Given the description of an element on the screen output the (x, y) to click on. 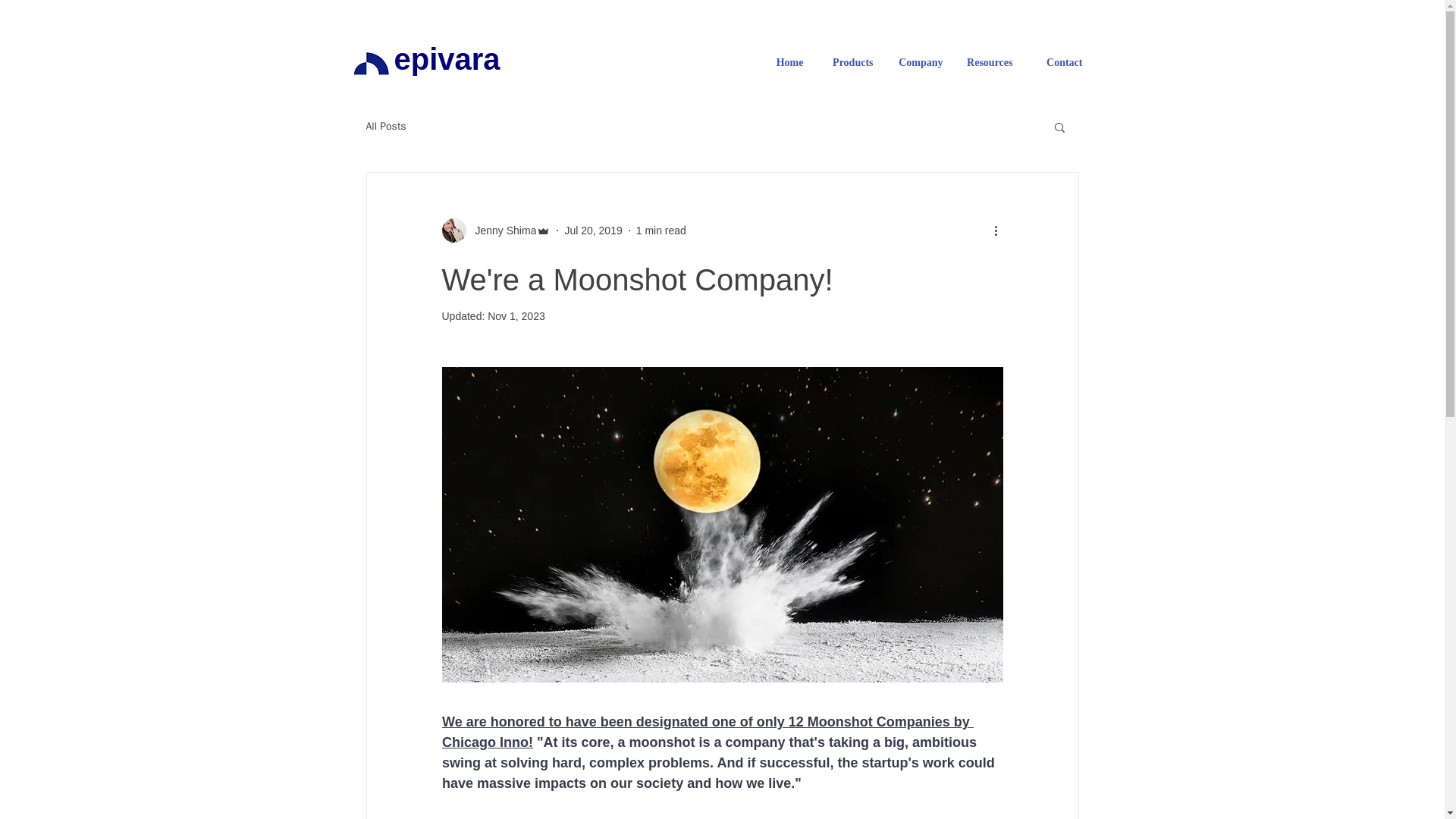
1 min read (660, 230)
All Posts (385, 126)
Jenny Shima (500, 230)
Nov 1, 2023 (515, 316)
epivara (447, 59)
Contact (1058, 62)
Jul 20, 2019 (592, 230)
Jenny Shima (495, 230)
Home (778, 62)
